Given the description of an element on the screen output the (x, y) to click on. 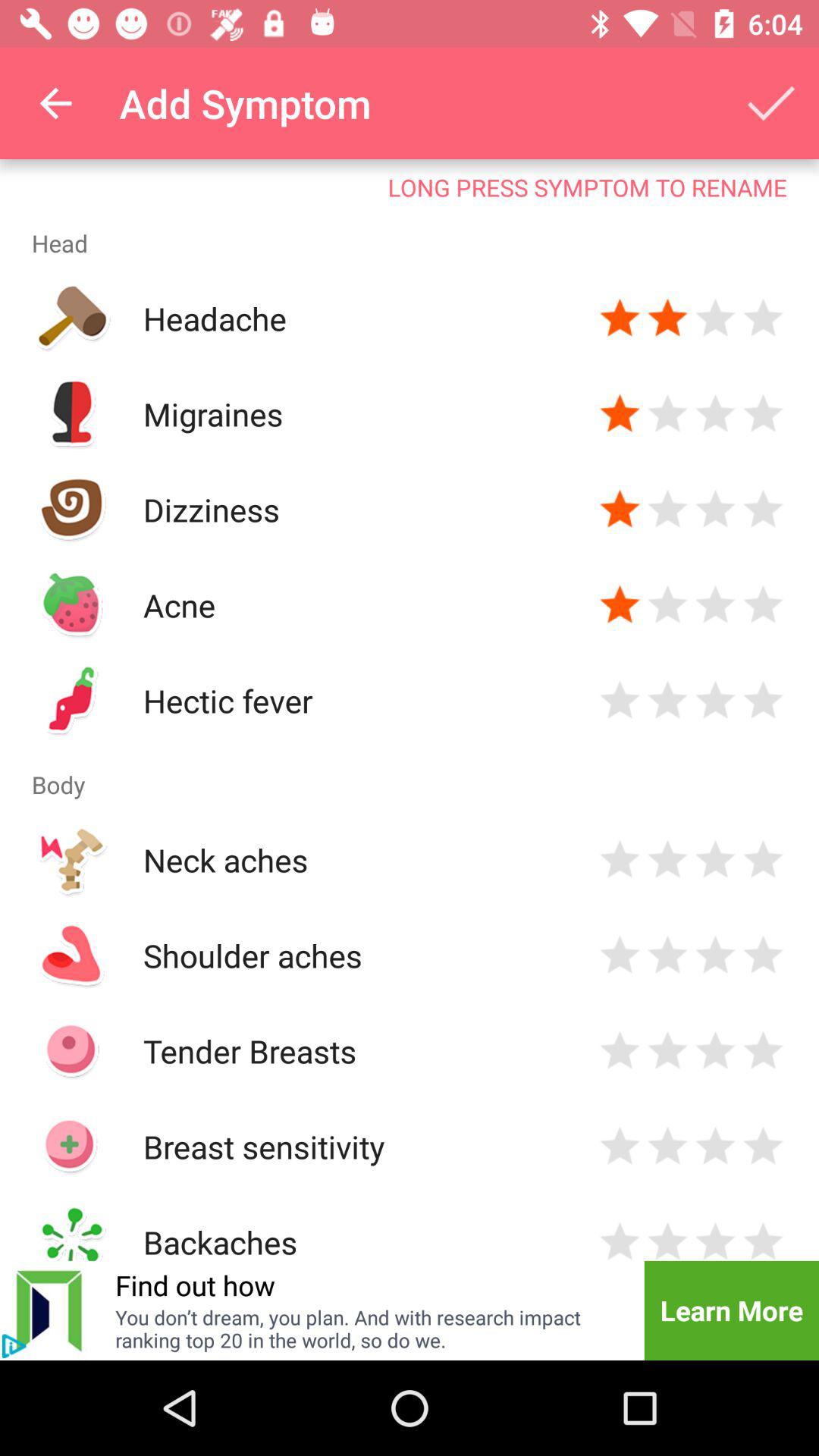
star rating for shoulder aches (619, 955)
